Given the description of an element on the screen output the (x, y) to click on. 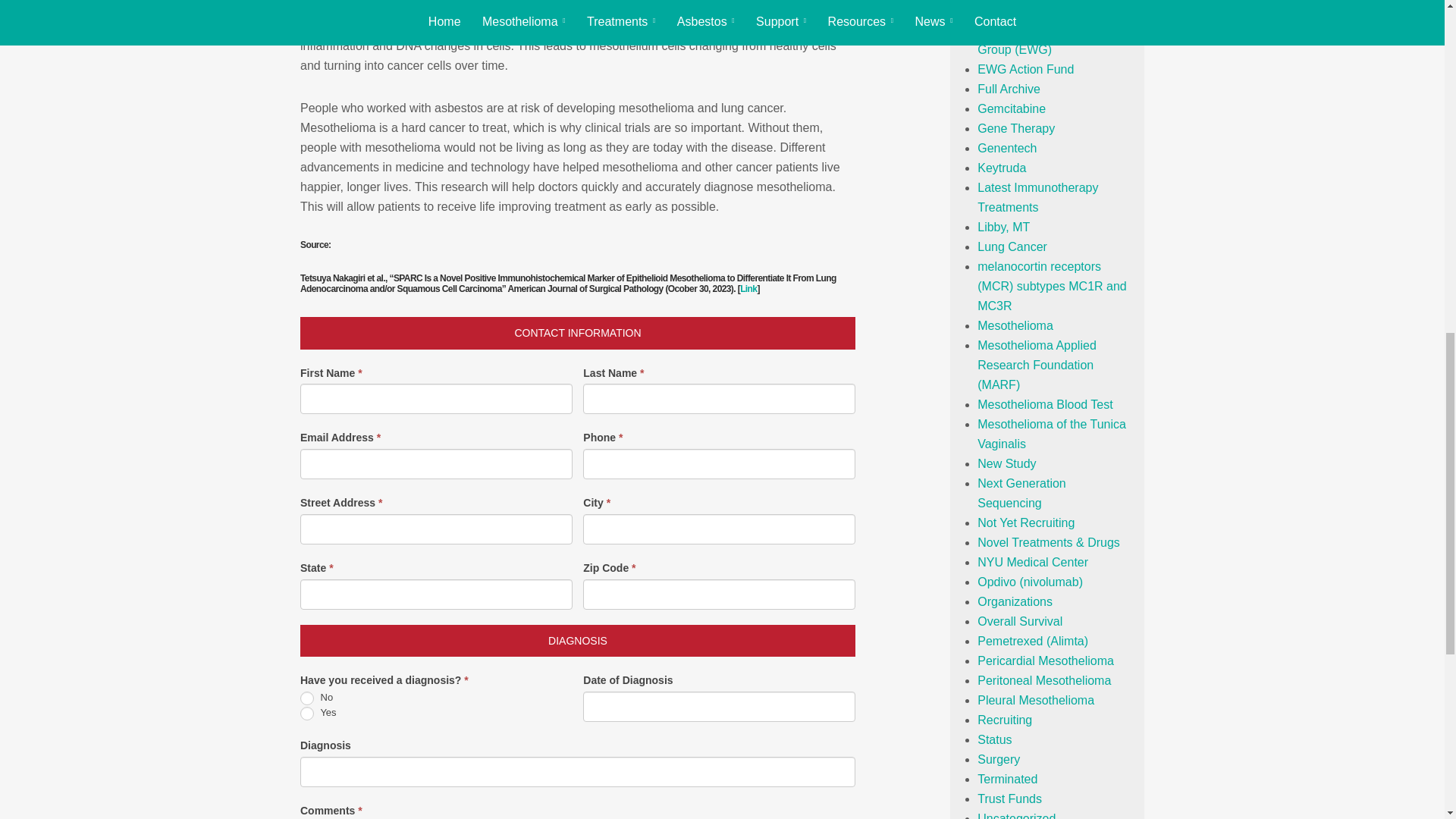
Yes (306, 713)
No (306, 698)
